Given the description of an element on the screen output the (x, y) to click on. 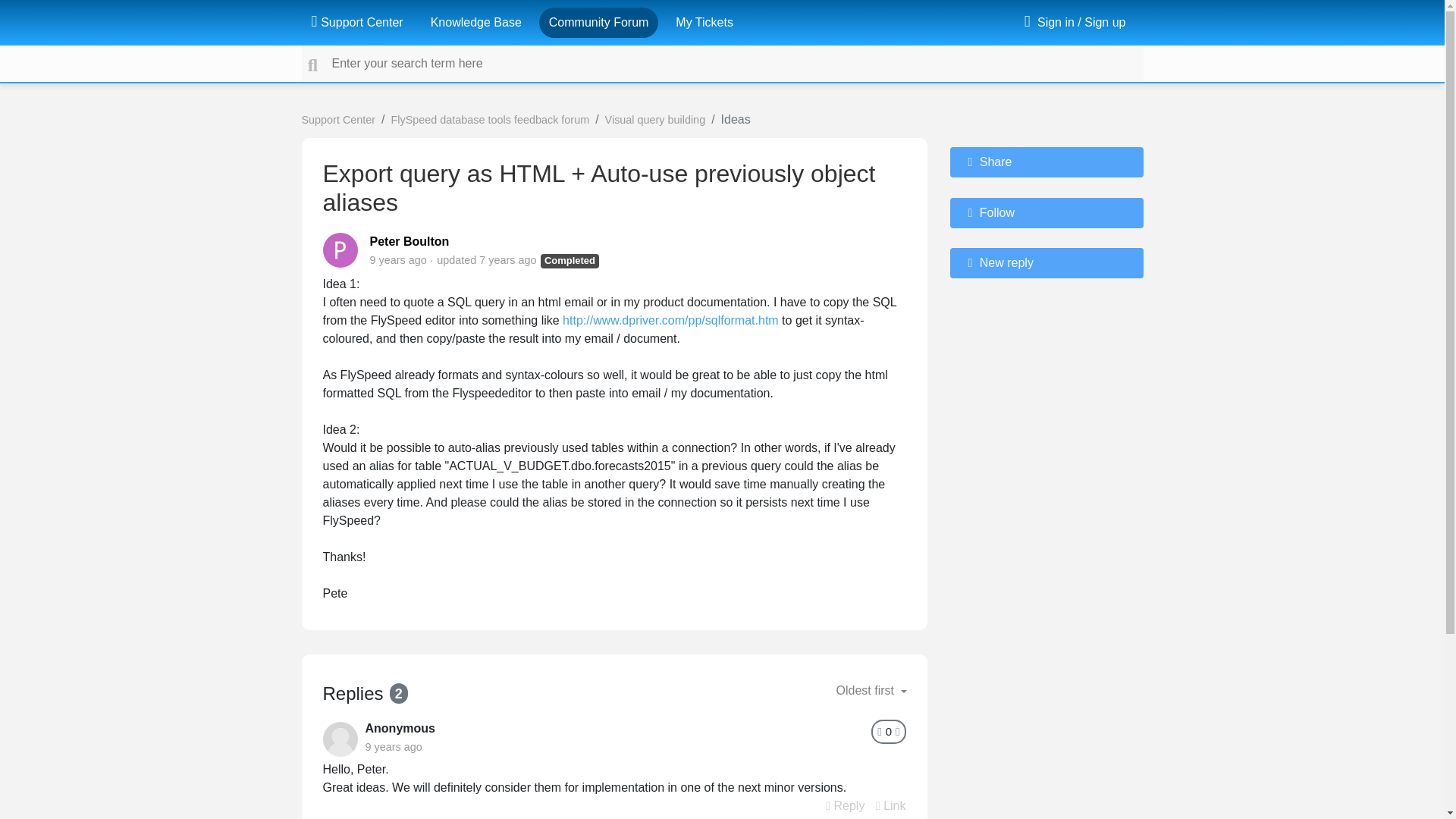
Visual query building (655, 119)
FlySpeed database tools feedback forum (490, 119)
Nov. 25, 2015 5:04 a.m. (393, 746)
Peter Boulton (409, 241)
Support Center (338, 119)
Share (1045, 162)
March 21, 2017 2:20 a.m. (507, 259)
Knowledge Base (476, 22)
Support Center (356, 22)
Link (890, 805)
My Tickets (704, 22)
New reply (1045, 263)
Nov. 25, 2015 4:06 a.m. (397, 259)
Anonymous (400, 727)
Oldest first (871, 690)
